Given the description of an element on the screen output the (x, y) to click on. 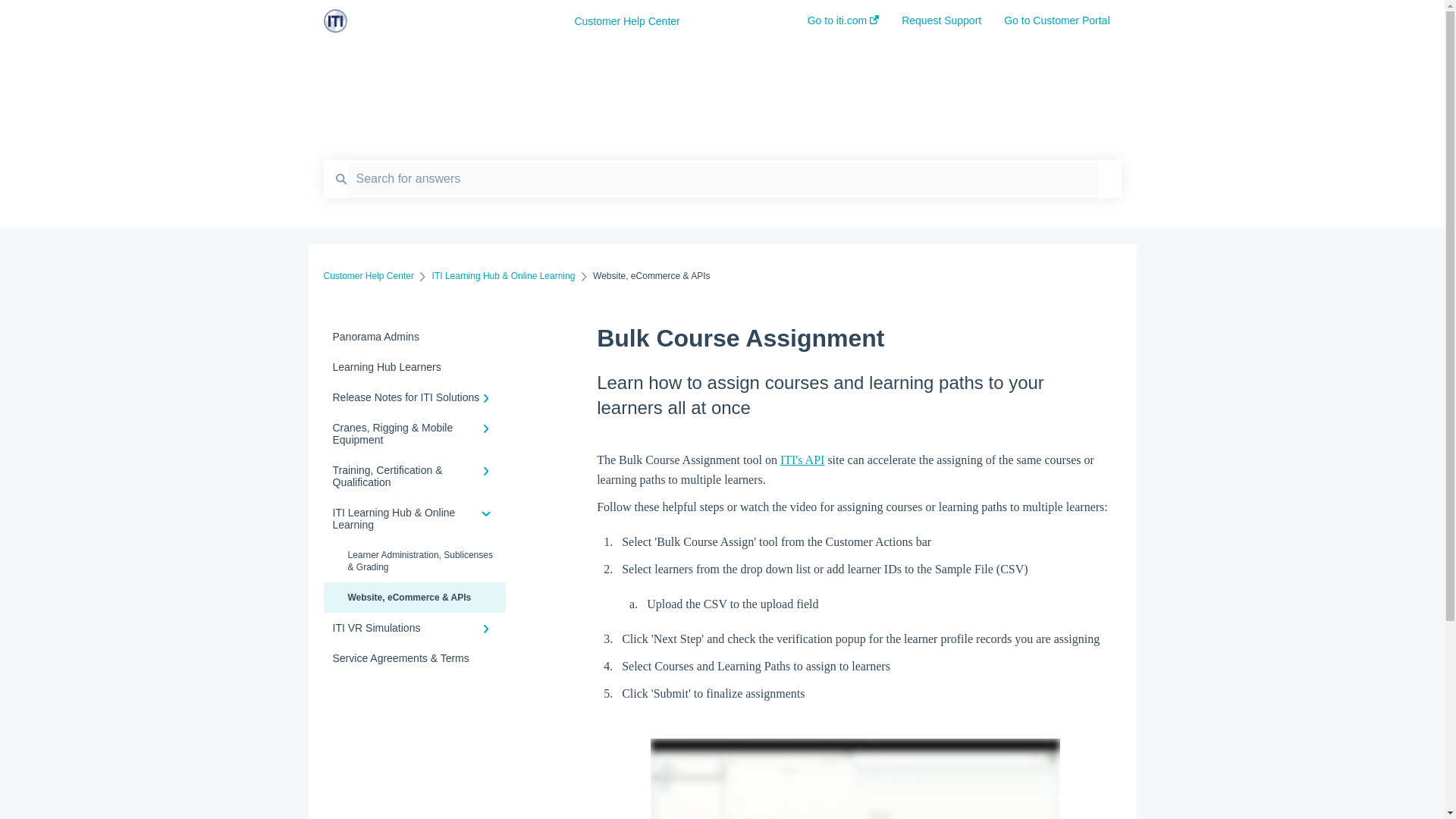
Learning Hub Learners (414, 367)
Panorama Admins (414, 336)
Request Support (941, 25)
Customer Help Center (368, 276)
Go to iti.com (843, 25)
Customer Help Center (667, 21)
Go to Customer Portal (1056, 25)
Release Notes for ITI Solutions (414, 397)
